Given the description of an element on the screen output the (x, y) to click on. 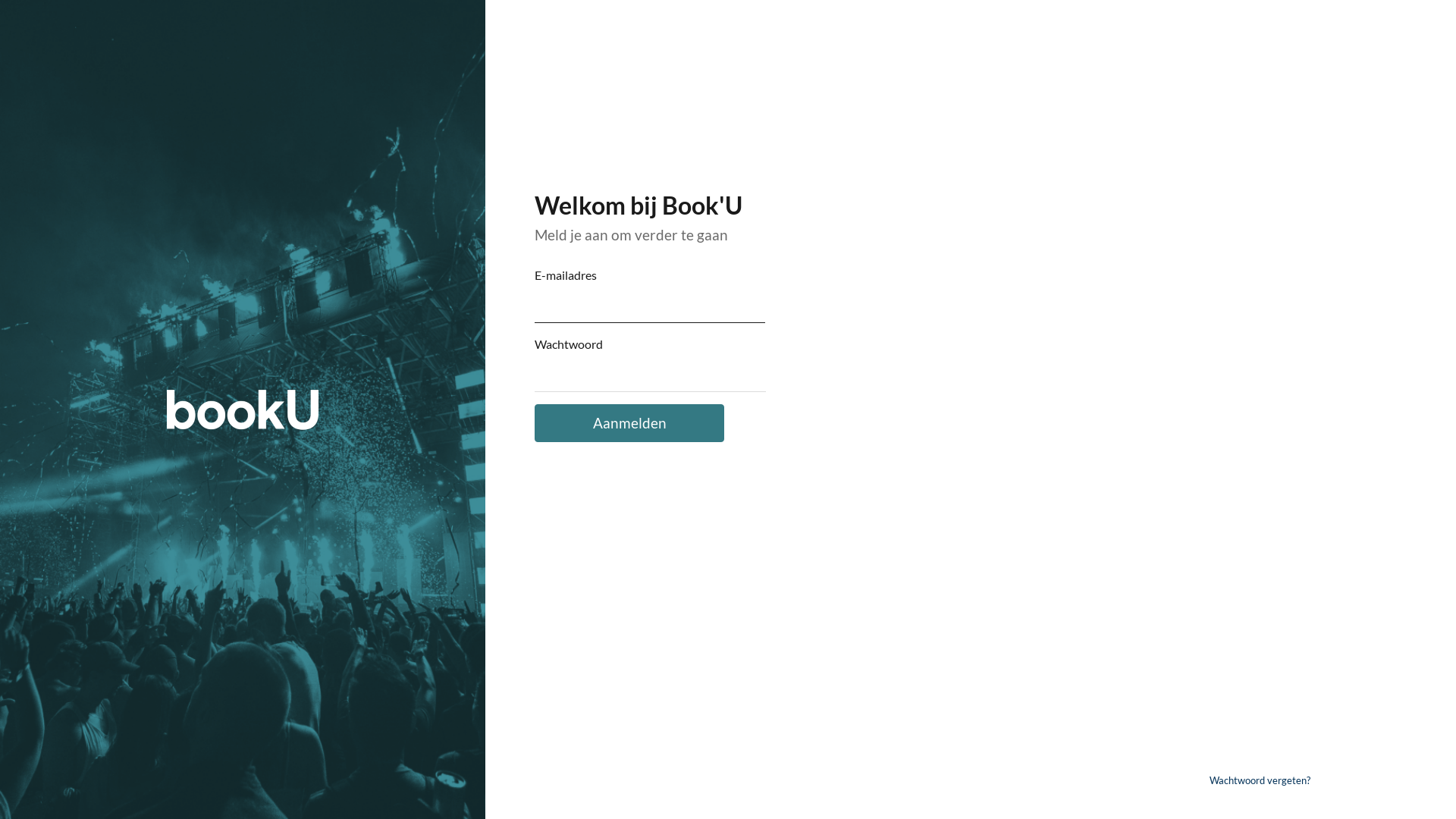
Aanmelden Element type: text (629, 423)
Wachtwoord vergeten? Element type: text (1259, 780)
